Given the description of an element on the screen output the (x, y) to click on. 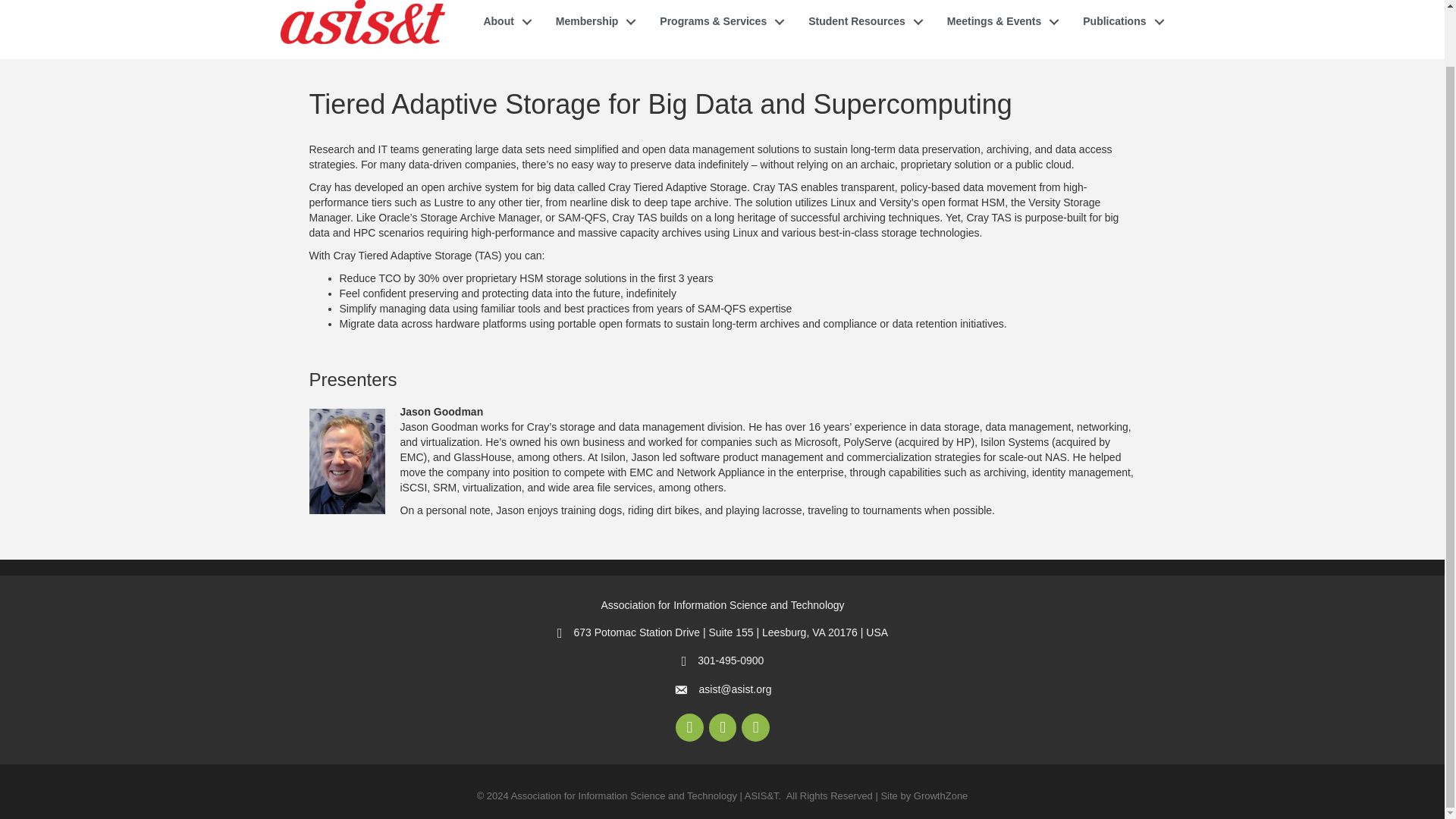
About (502, 21)
